Given the description of an element on the screen output the (x, y) to click on. 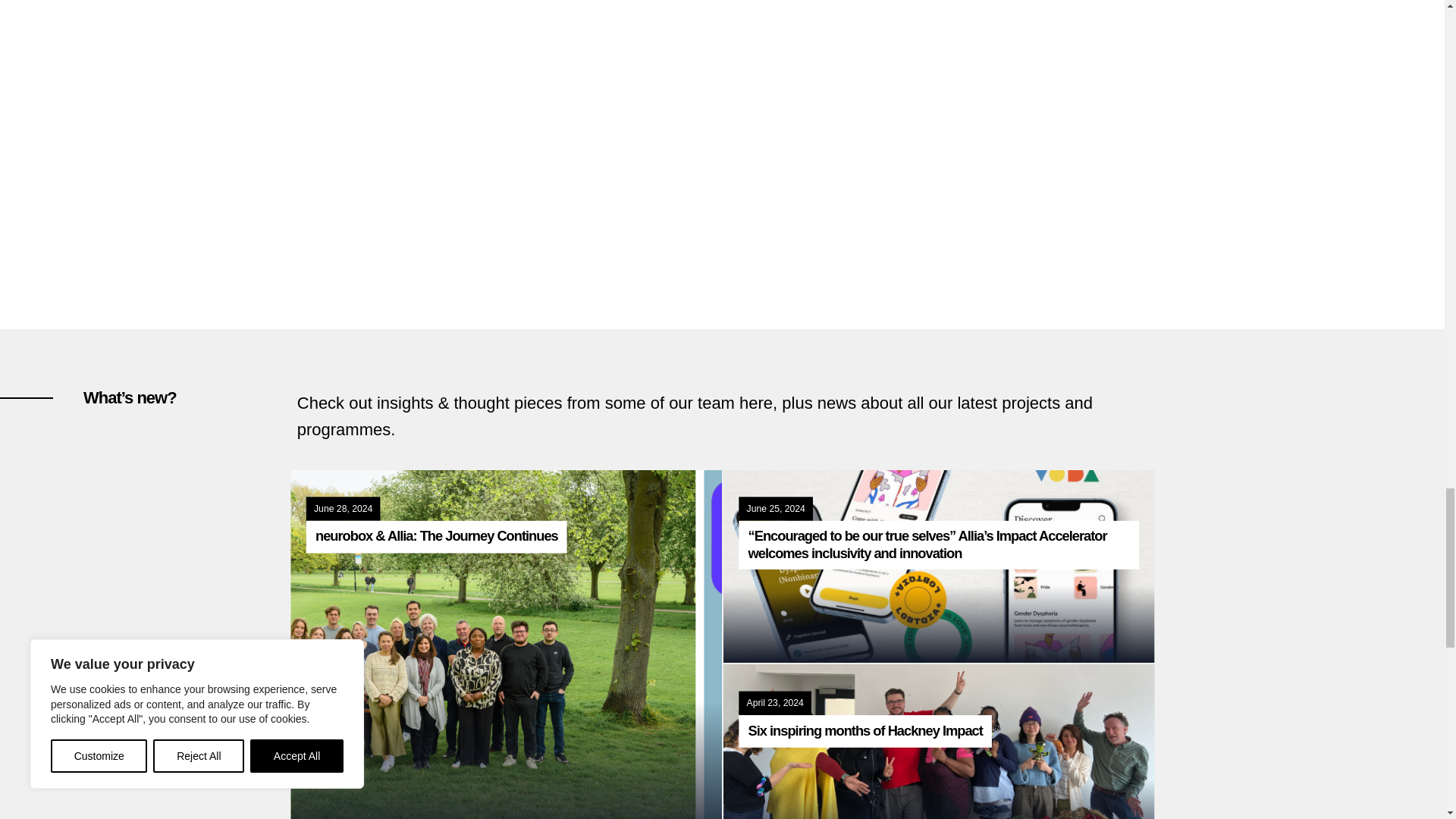
Tuesday, April, 2024, 9:19 am (773, 702)
Tuesday, June, 2024, 11:26 am (774, 508)
Six inspiring months of Hackney Impact (862, 730)
Friday, June, 2024, 10:09 am (342, 508)
